Given the description of an element on the screen output the (x, y) to click on. 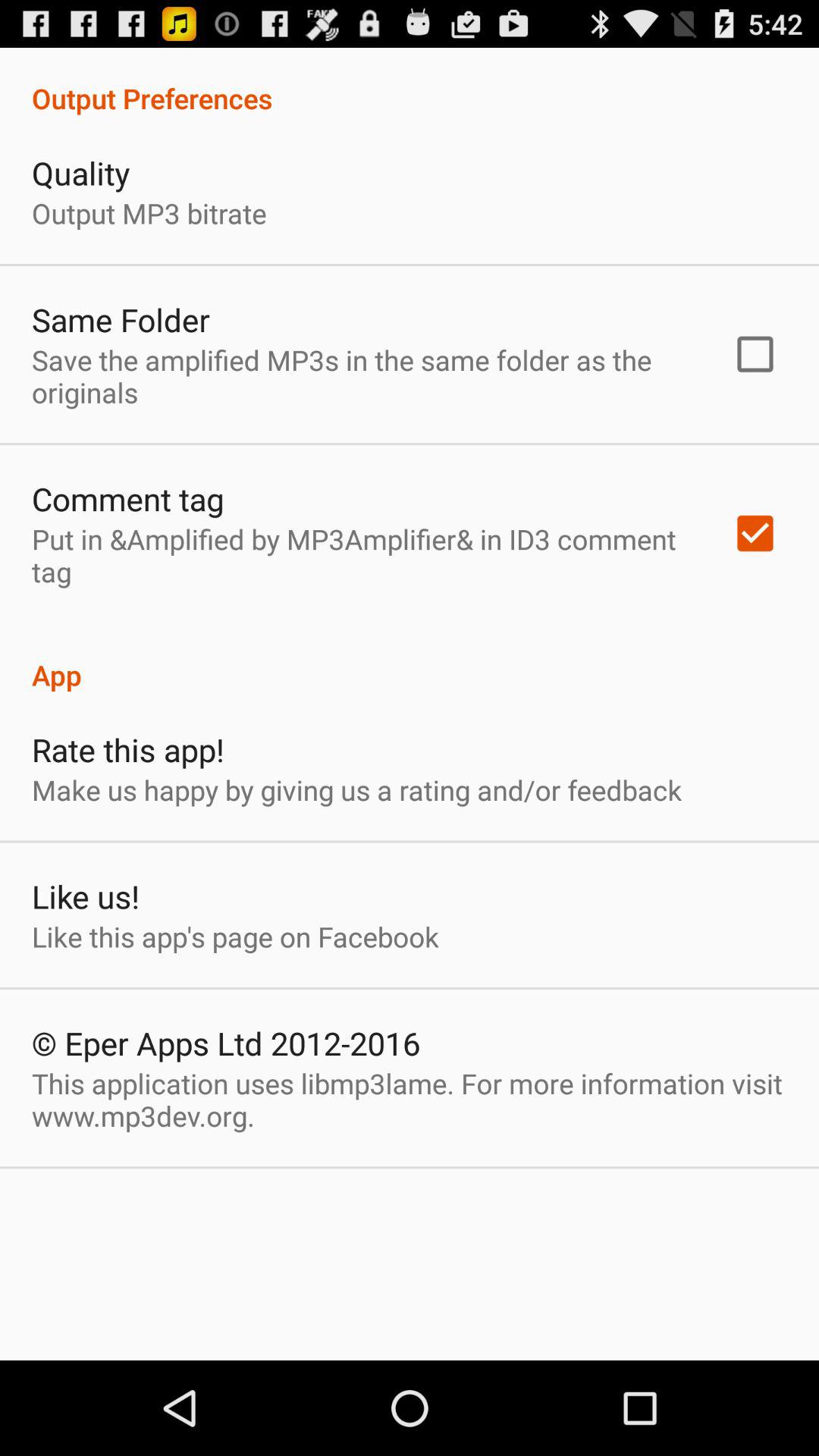
jump until the output mp3 bitrate icon (148, 213)
